Given the description of an element on the screen output the (x, y) to click on. 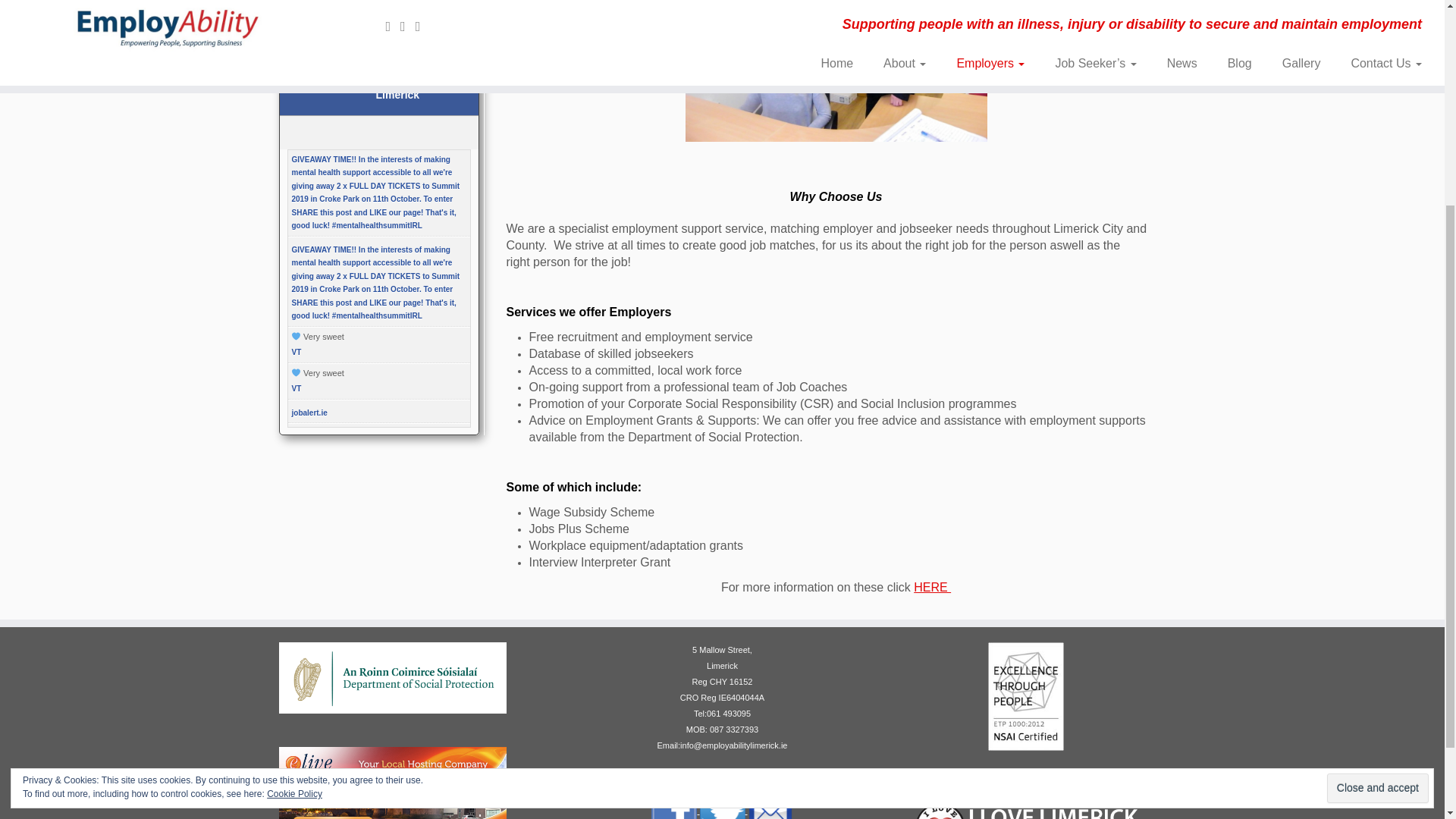
VT (296, 388)
1 (836, 70)
elive (392, 798)
Close and accept (1377, 494)
Facebook (674, 809)
EmployAbility Limerick (410, 86)
Twitter (722, 809)
VT (296, 352)
